Given the description of an element on the screen output the (x, y) to click on. 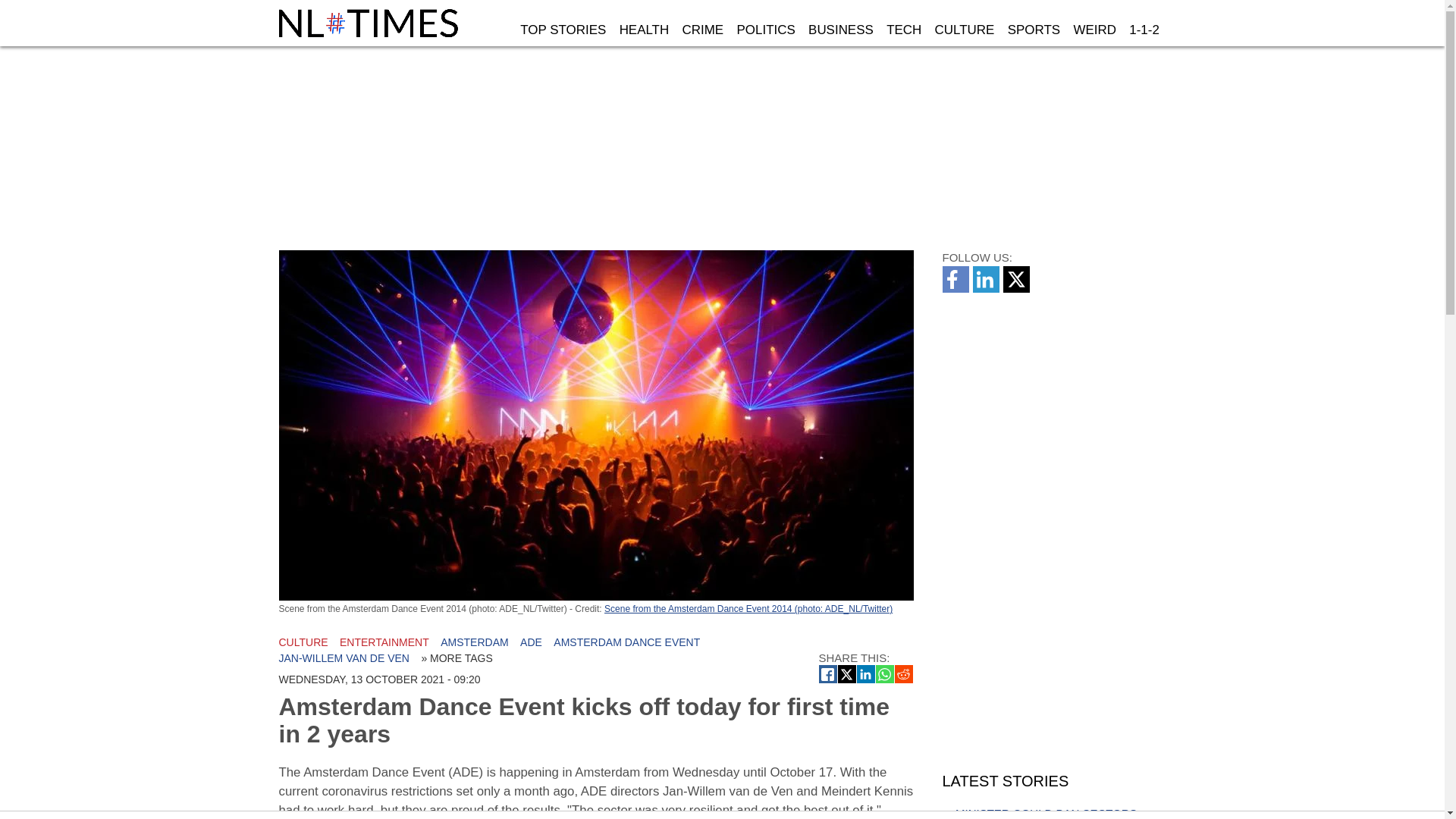
LINKEDIN (866, 674)
BUSINESS (840, 30)
FACEBOOK (827, 674)
JAN-WILLEM VAN DE VEN (344, 657)
ADE (530, 642)
Follow us on LinkedIn (987, 287)
Follow us on X (1017, 287)
REDDIT (903, 674)
Follow us on Facebook (957, 287)
